Given the description of an element on the screen output the (x, y) to click on. 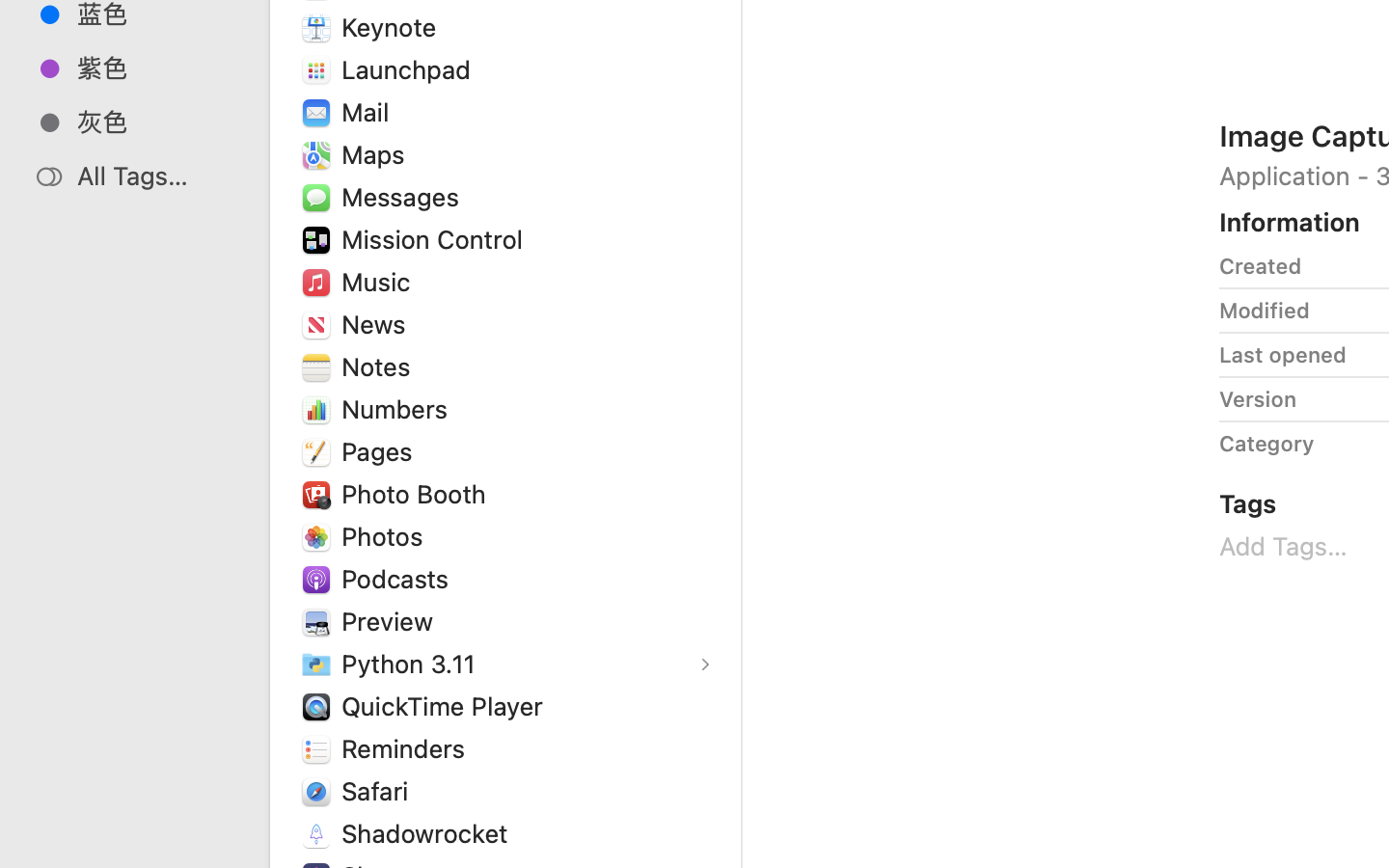
灰色 Element type: AXStaticText (155, 121)
Photo Booth Element type: AXTextField (417, 493)
Pages Element type: AXTextField (380, 450)
Tags… Element type: AXStaticText (41, 852)
Mail Element type: AXTextField (369, 111)
